Given the description of an element on the screen output the (x, y) to click on. 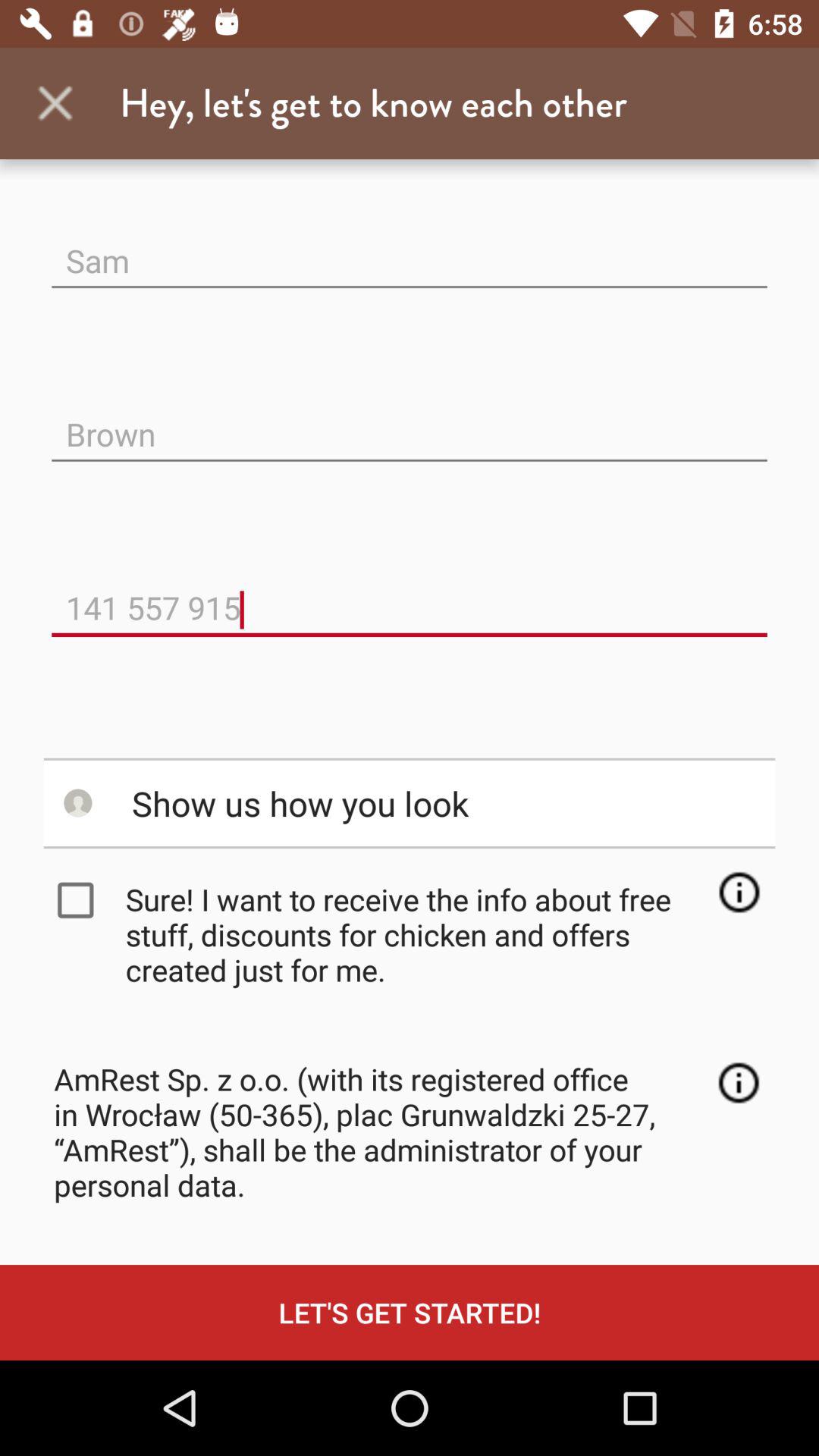
select the item above the amrest sp z icon (413, 934)
